Given the description of an element on the screen output the (x, y) to click on. 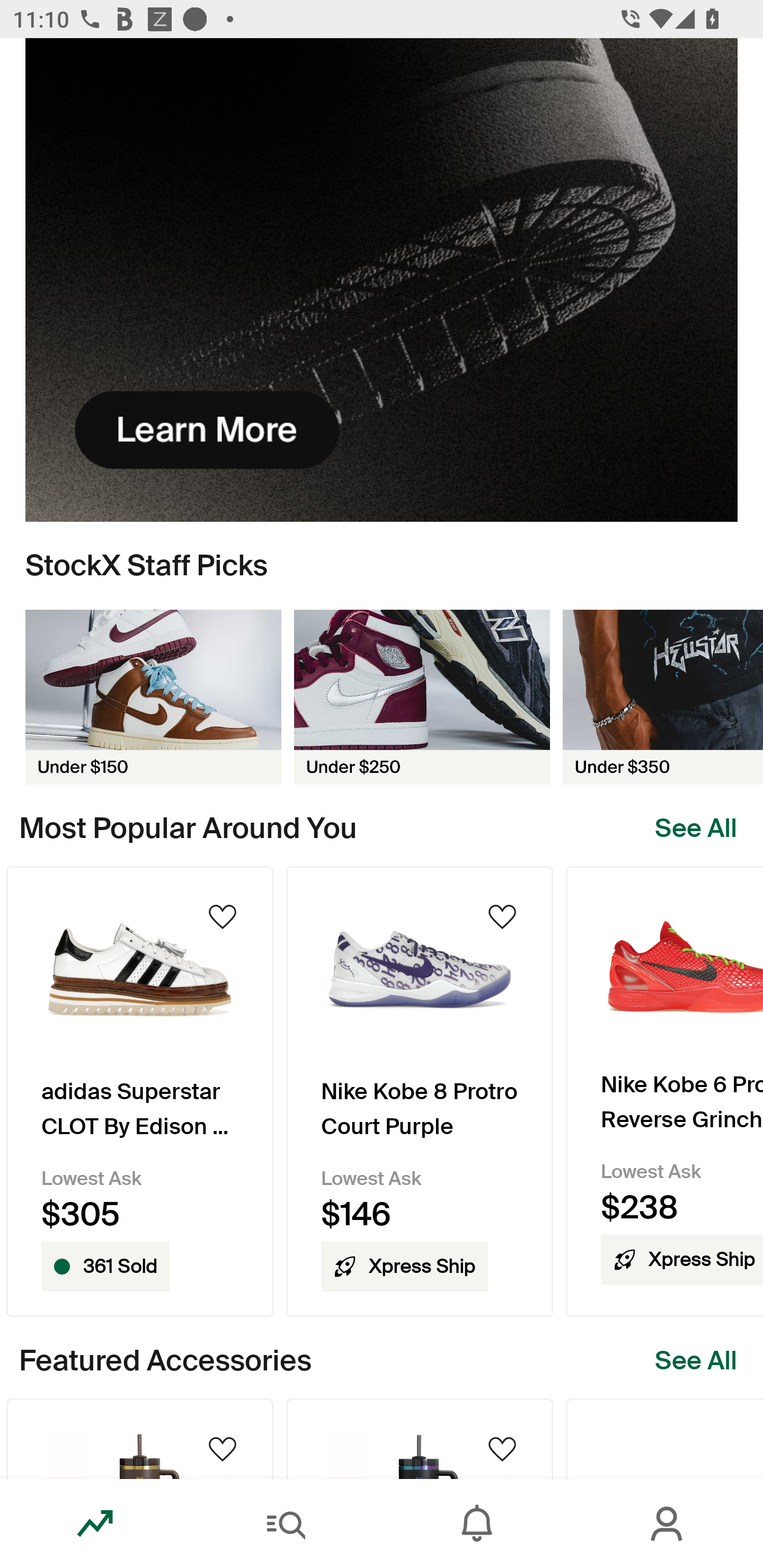
SecondaryB.jpg (381, 279)
under150.jpg (153, 696)
under250.jpg (421, 696)
under350.jpg (663, 696)
See All (695, 828)
See All (695, 1359)
Search (285, 1523)
Inbox (476, 1523)
Account (667, 1523)
